Given the description of an element on the screen output the (x, y) to click on. 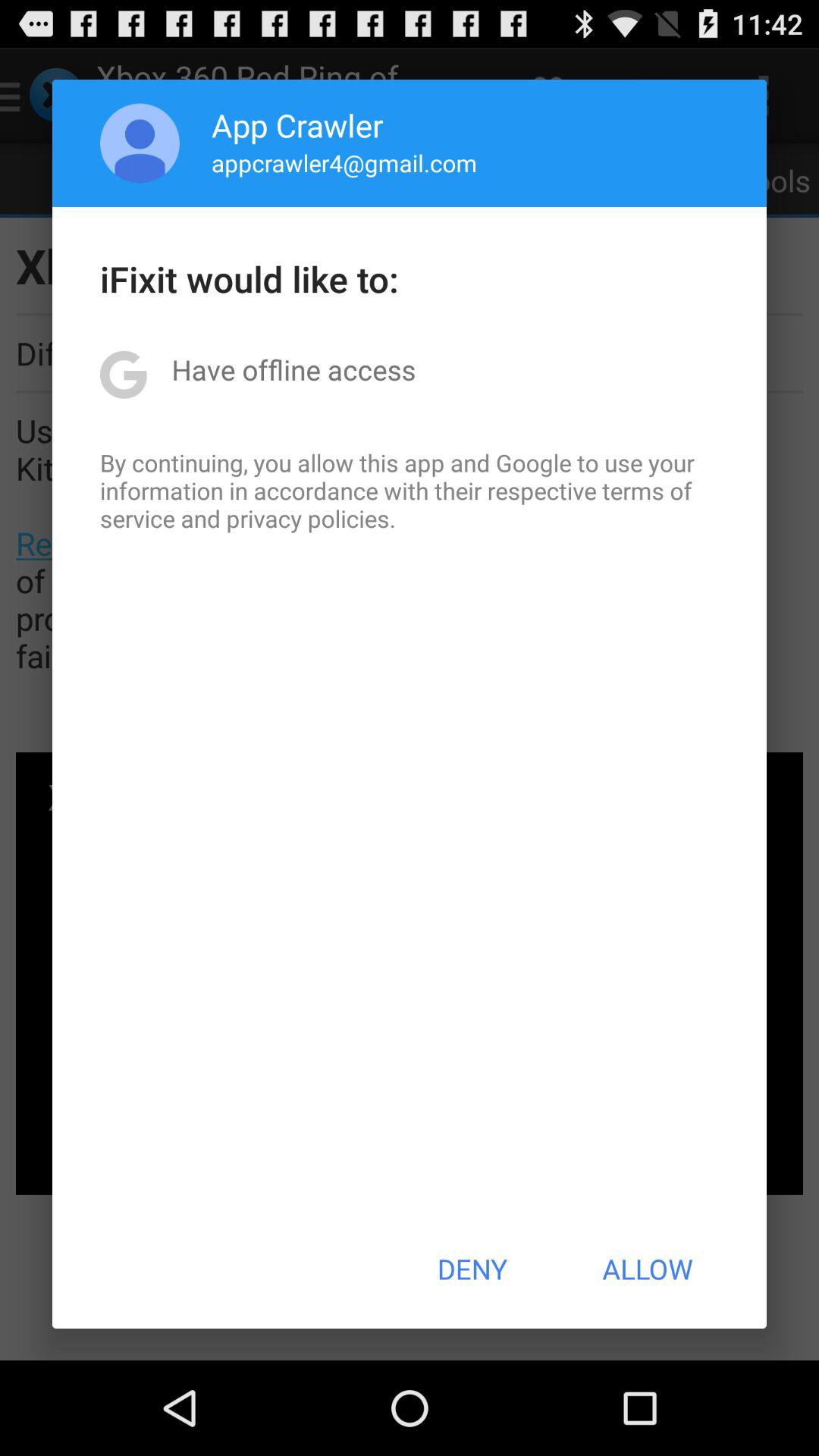
select the icon next to the app crawler (139, 143)
